Given the description of an element on the screen output the (x, y) to click on. 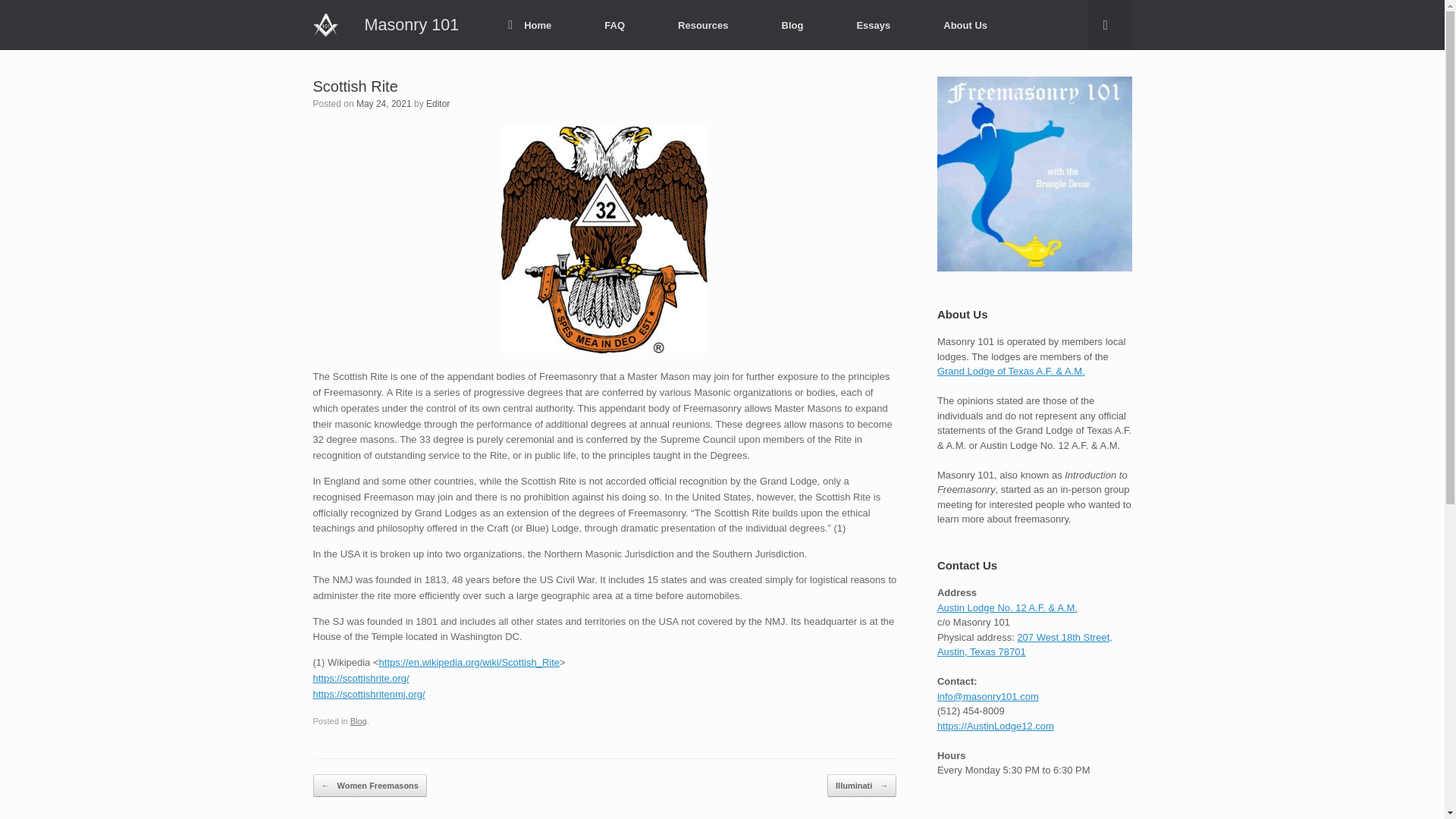
Blog (358, 720)
Blog (792, 24)
View all posts by Editor (437, 103)
Home (529, 24)
FAQ (614, 24)
Editor (437, 103)
May 24, 2021 (384, 103)
Resources (702, 24)
Essays (873, 24)
207 West 18th Street, Austin, Texas 78701 (1024, 644)
